Given the description of an element on the screen output the (x, y) to click on. 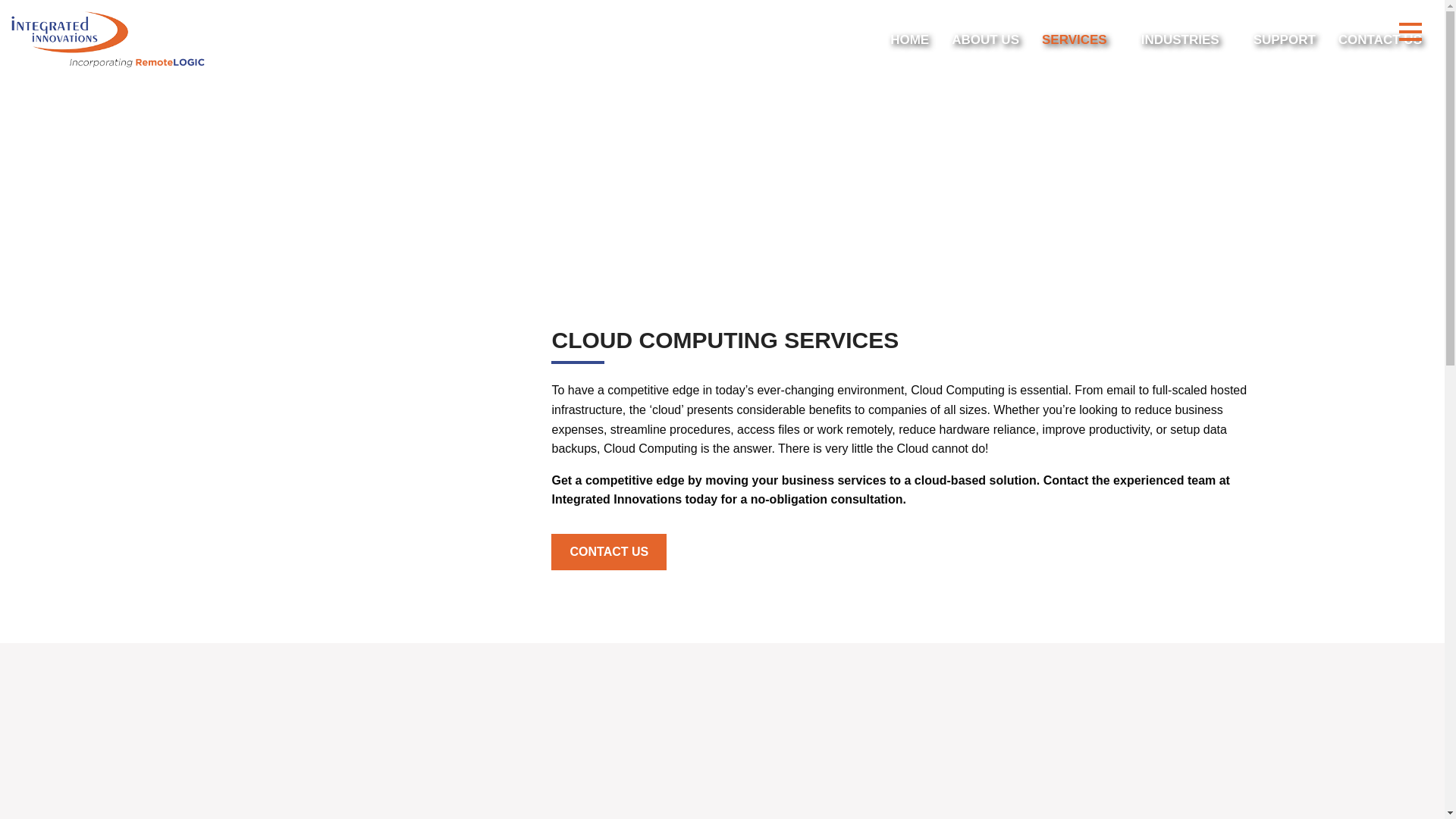
SERVICES Element type: text (1079, 39)
HOME Element type: text (909, 39)
CONTACT US Element type: text (608, 551)
Integrated Innovations Element type: hover (107, 39)
SUPPORT Element type: text (1284, 39)
INDUSTRIES Element type: text (1185, 39)
CONTACT US Element type: text (1379, 39)
ABOUT US Element type: text (985, 39)
